Given the description of an element on the screen output the (x, y) to click on. 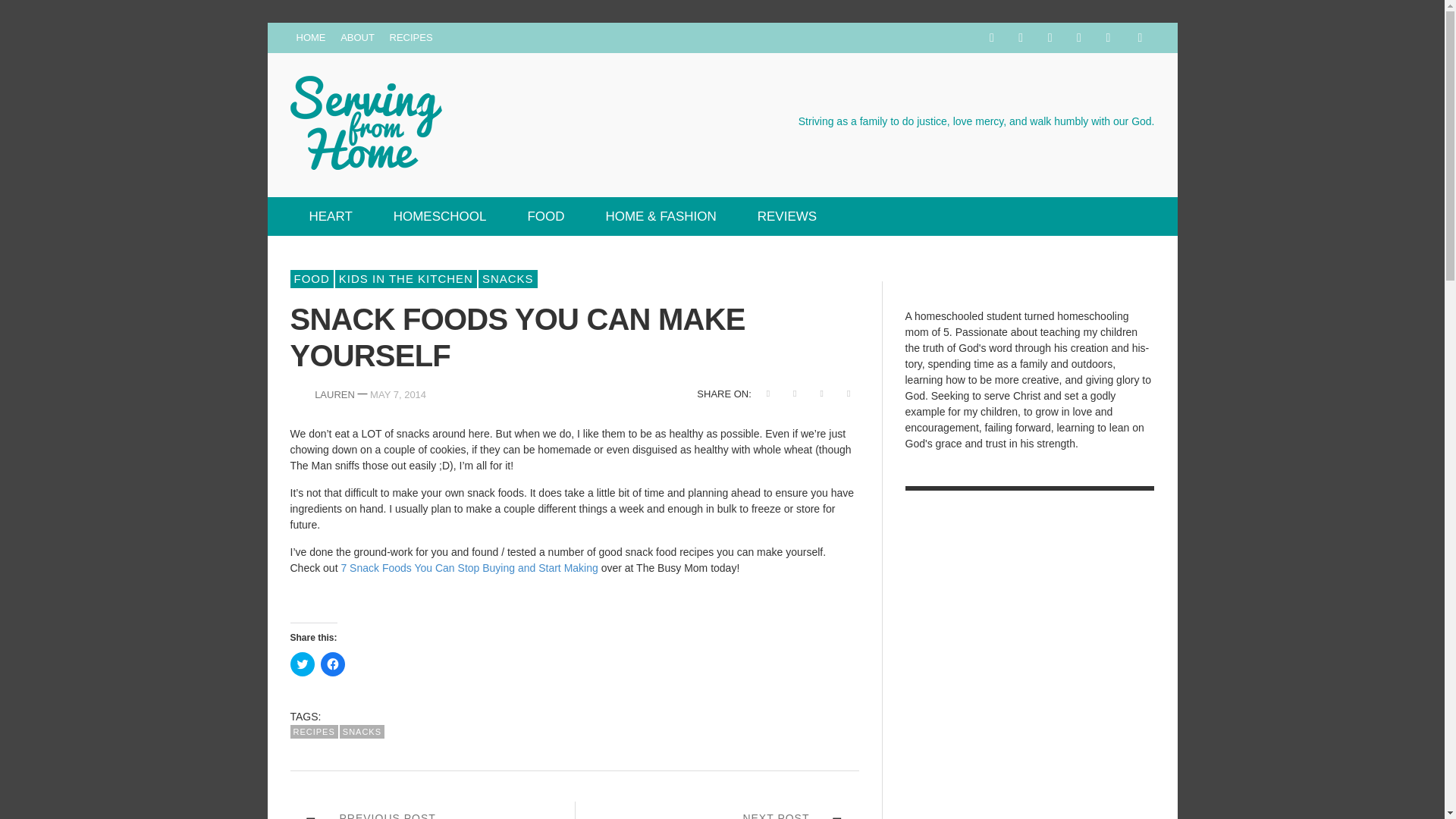
ABOUT (357, 37)
Pinterest (1078, 37)
HOMESCHOOL (439, 216)
RECIPES (411, 37)
Twitter (1107, 37)
HEART (330, 216)
Instagram (1049, 37)
HOME (310, 37)
Facebook (991, 37)
